Given the description of an element on the screen output the (x, y) to click on. 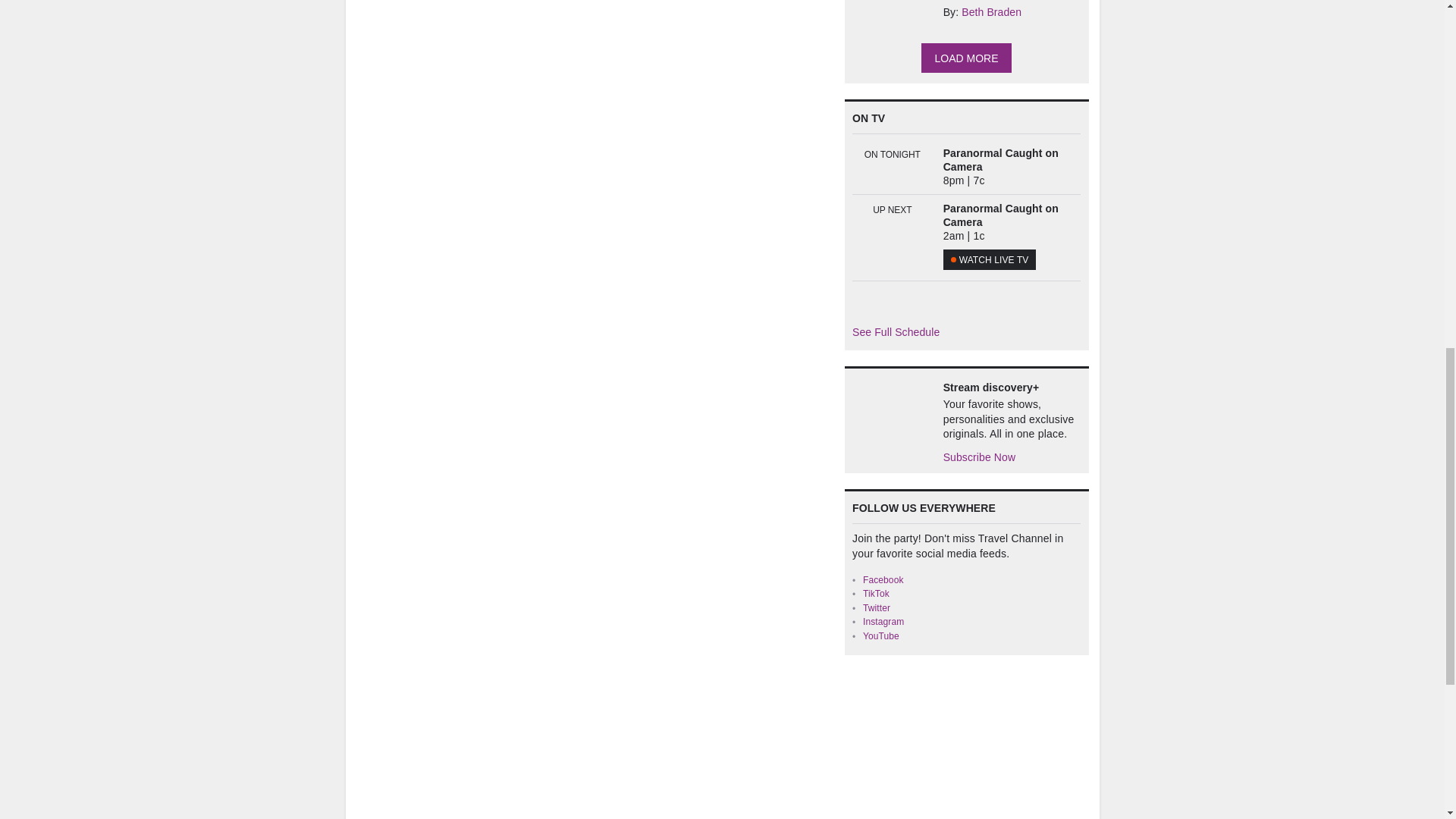
3rd party ad content (957, 744)
